Given the description of an element on the screen output the (x, y) to click on. 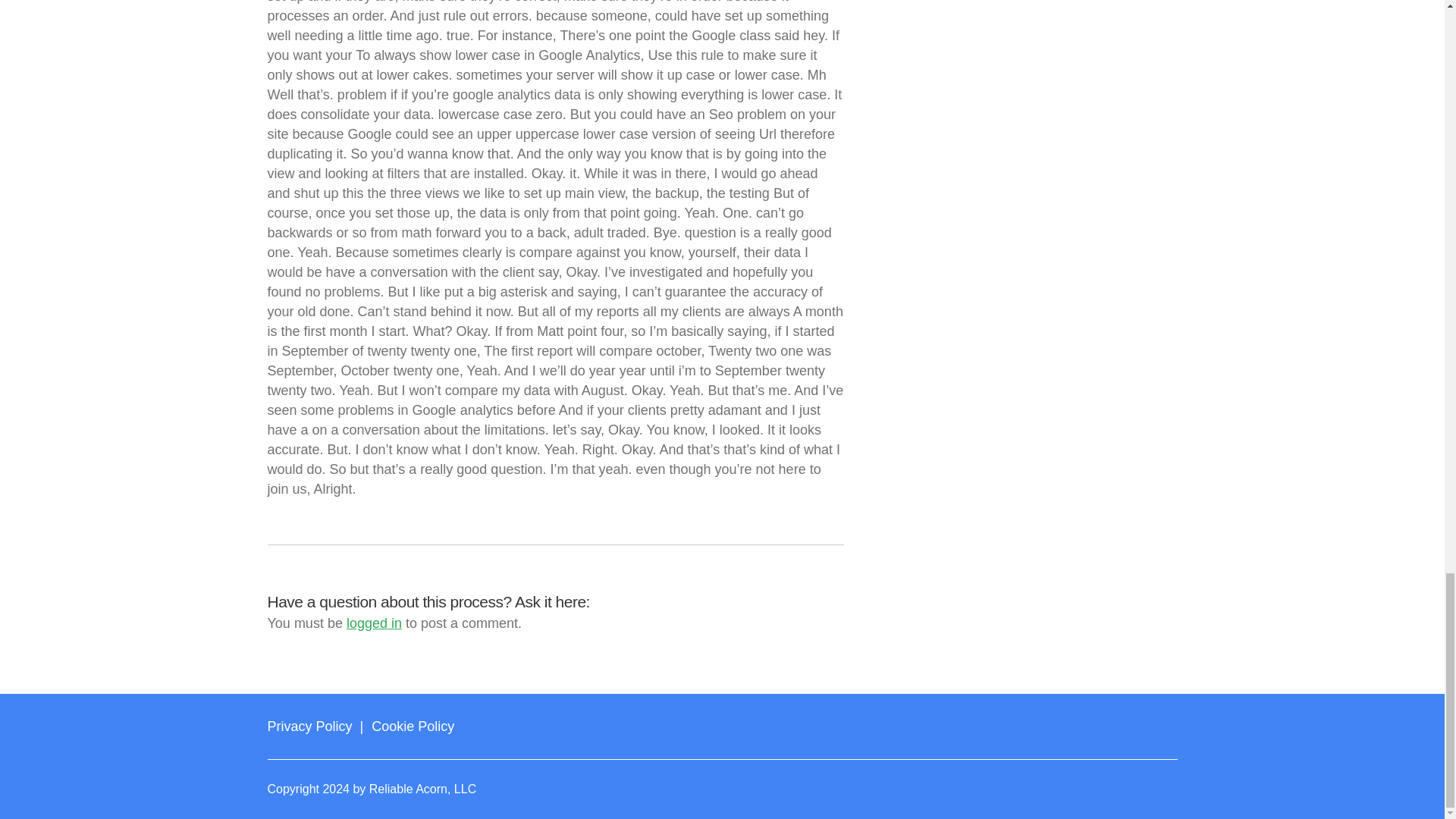
logged in (373, 622)
